Given the description of an element on the screen output the (x, y) to click on. 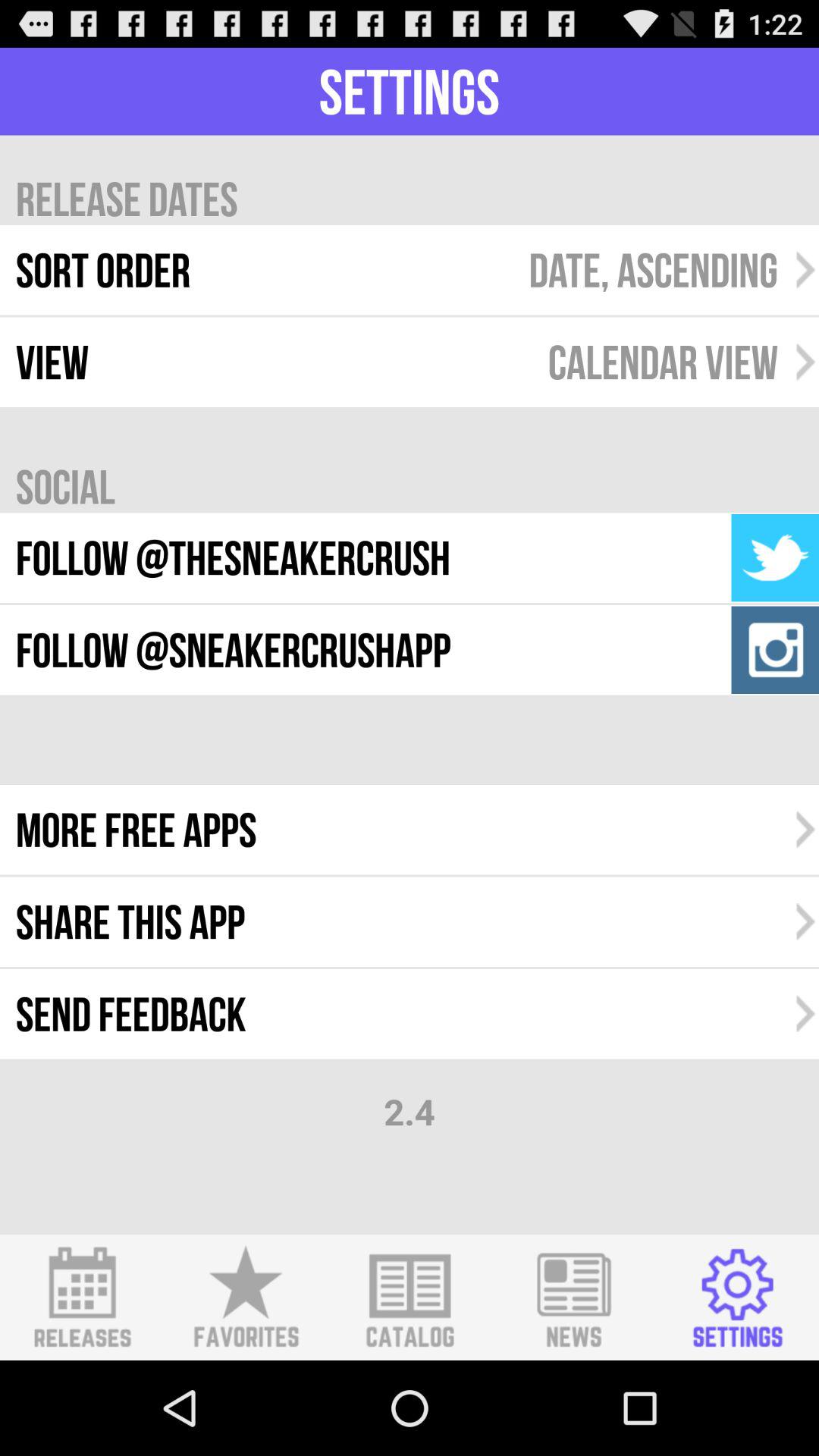
news tab (573, 1297)
